Given the description of an element on the screen output the (x, y) to click on. 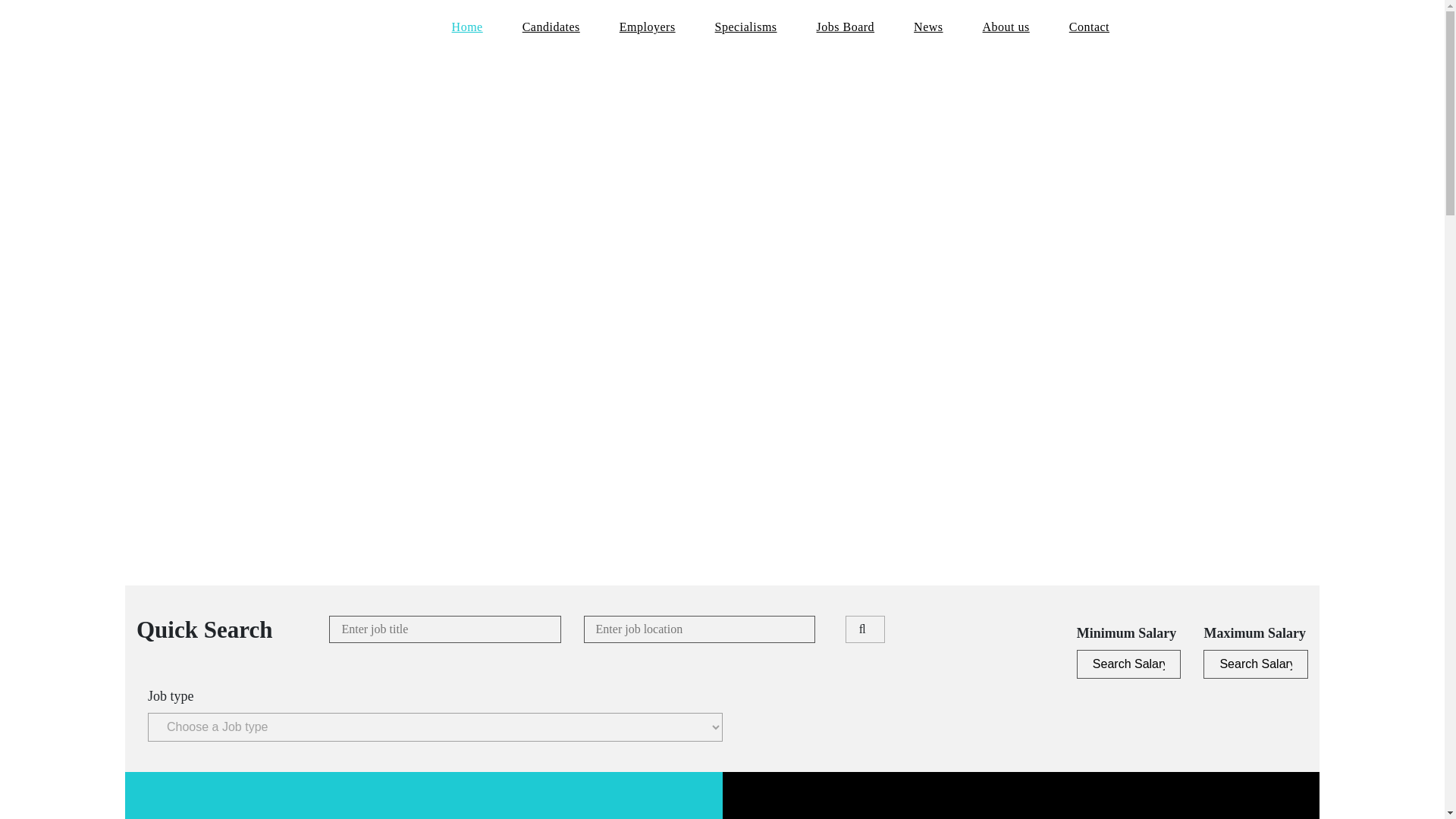
Jobs Board (845, 27)
Go to Candidates (551, 27)
News (928, 27)
Go to Home (467, 27)
Candidates (551, 27)
Go to Jobs Board (845, 27)
Specialisms (746, 27)
Go to News (928, 27)
Go to Specialisms (746, 27)
Search Now (865, 628)
Search Now (865, 628)
Open dropdown for About us (1005, 27)
About us (1005, 27)
Employers (646, 27)
Go to Employers (646, 27)
